Given the description of an element on the screen output the (x, y) to click on. 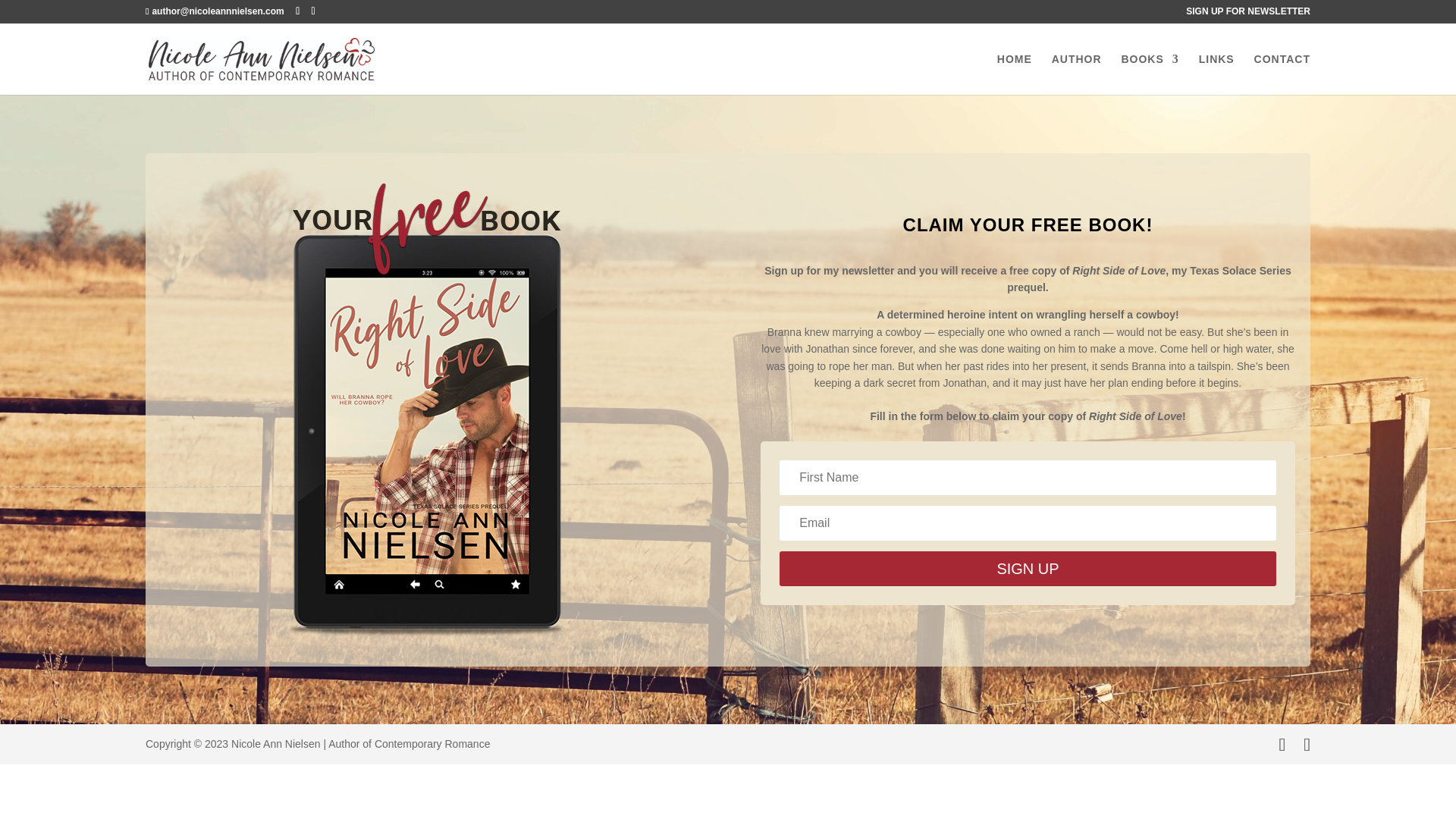
SIGN UP (1027, 568)
SIGN UP FOR NEWSLETTER (1248, 14)
CONTACT (1281, 74)
AUTHOR (1076, 74)
BOOKS (1149, 74)
